Given the description of an element on the screen output the (x, y) to click on. 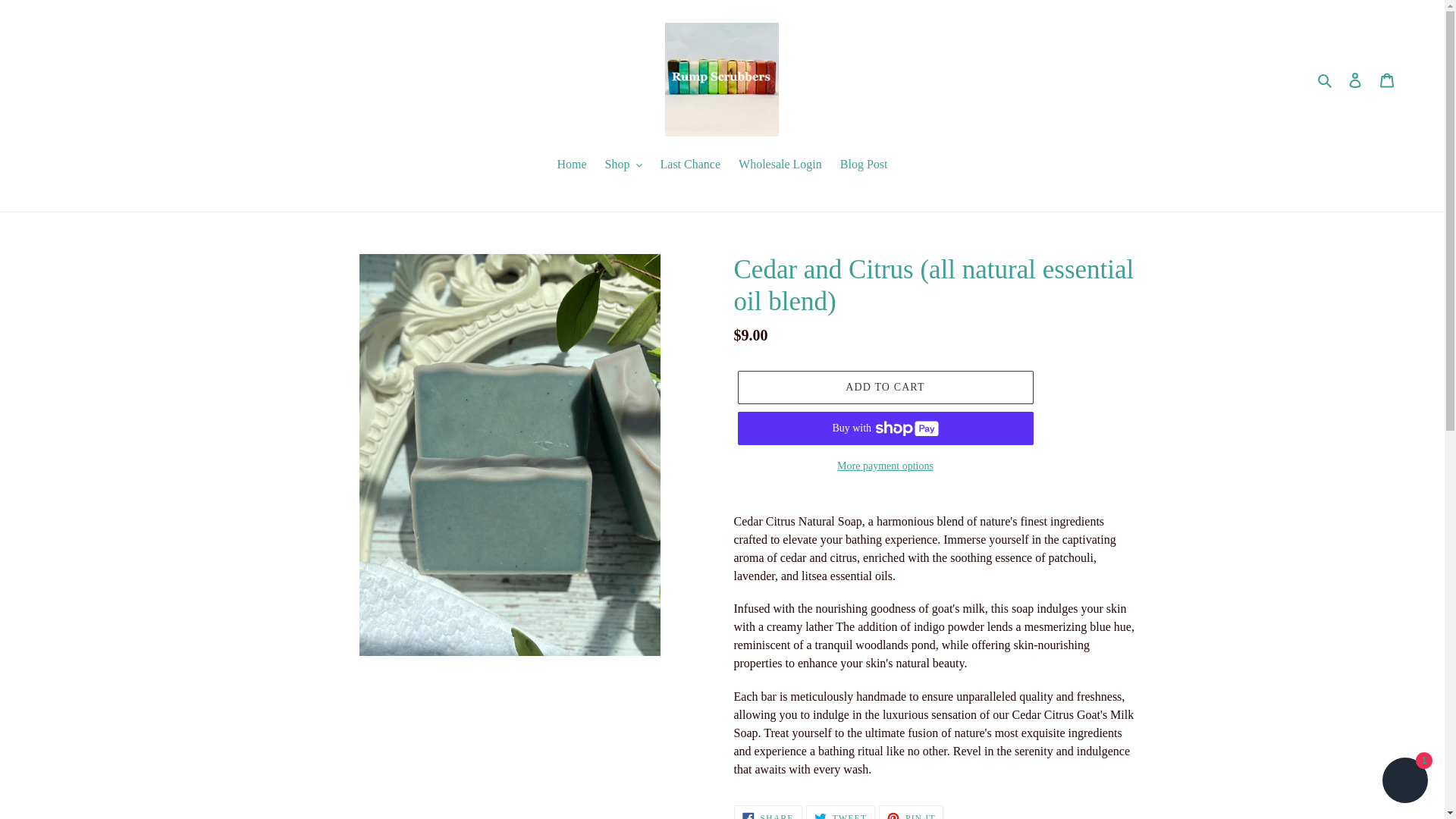
Shop (622, 165)
Cart (1387, 79)
Wholesale Login (840, 812)
ADD TO CART (779, 165)
More payment options (884, 387)
Shopify online store chat (767, 812)
Log in (884, 466)
Blog Post (1404, 781)
Last Chance (1355, 79)
Home (863, 165)
Search (690, 165)
